Given the description of an element on the screen output the (x, y) to click on. 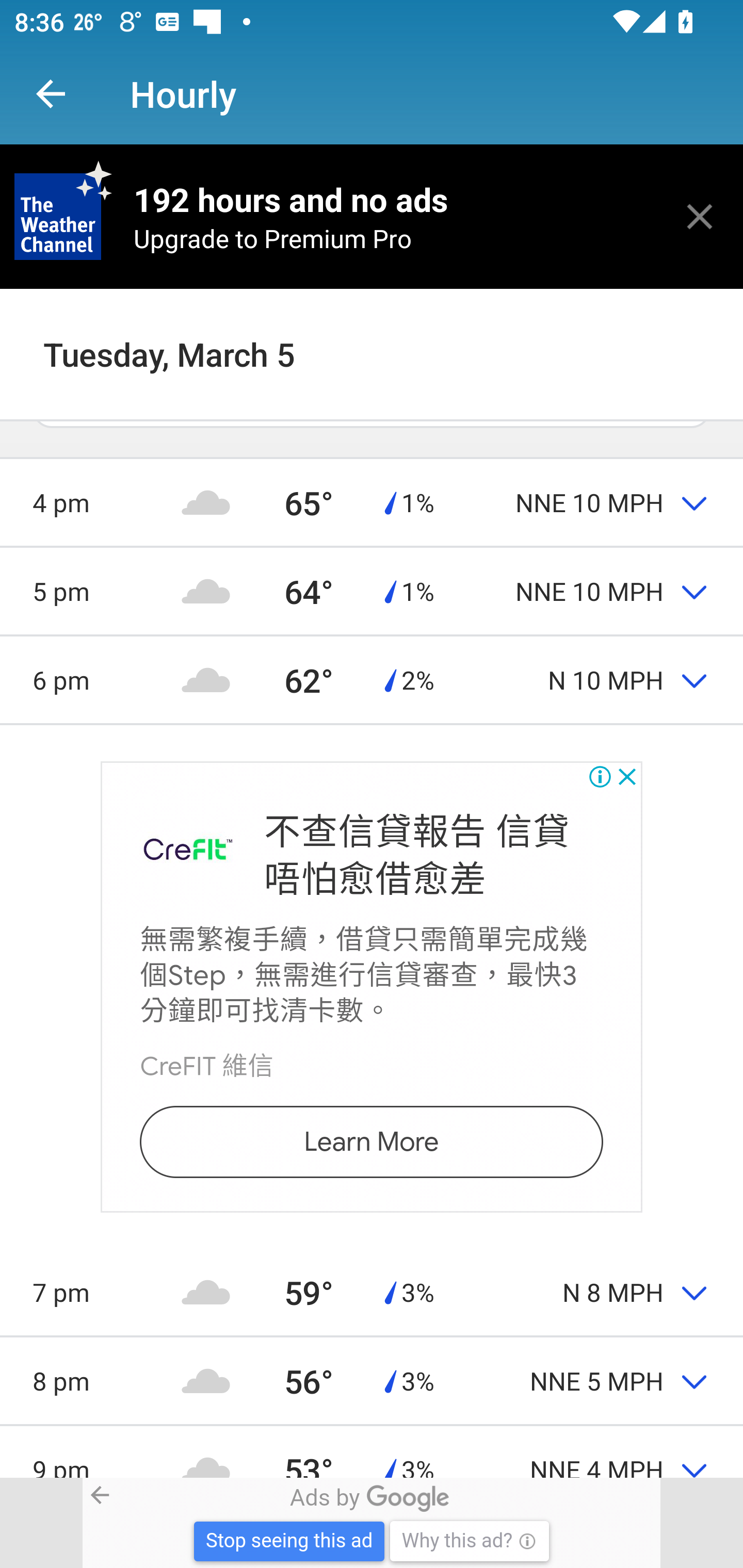
Navigate up (50, 93)
close this (699, 216)
4 pm 65° 1% NNE 10 MPH (371, 502)
5 pm 64° 1% NNE 10 MPH (371, 591)
6 pm 62° 2% N 10 MPH (371, 679)
CreFIT 維信 (187, 849)
不查信貸報告 信貸 唔怕愈借愈差 不查信貸報告 信貸 唔怕愈借愈差 (416, 855)
CreFIT 維信 (206, 1066)
Learn More (371, 1140)
7 pm 59° 3% N 8 MPH (371, 1291)
8 pm 56° 3% NNE 5 MPH (371, 1380)
9 pm 53° 3% NNE 4 MPH (371, 1451)
